Given the description of an element on the screen output the (x, y) to click on. 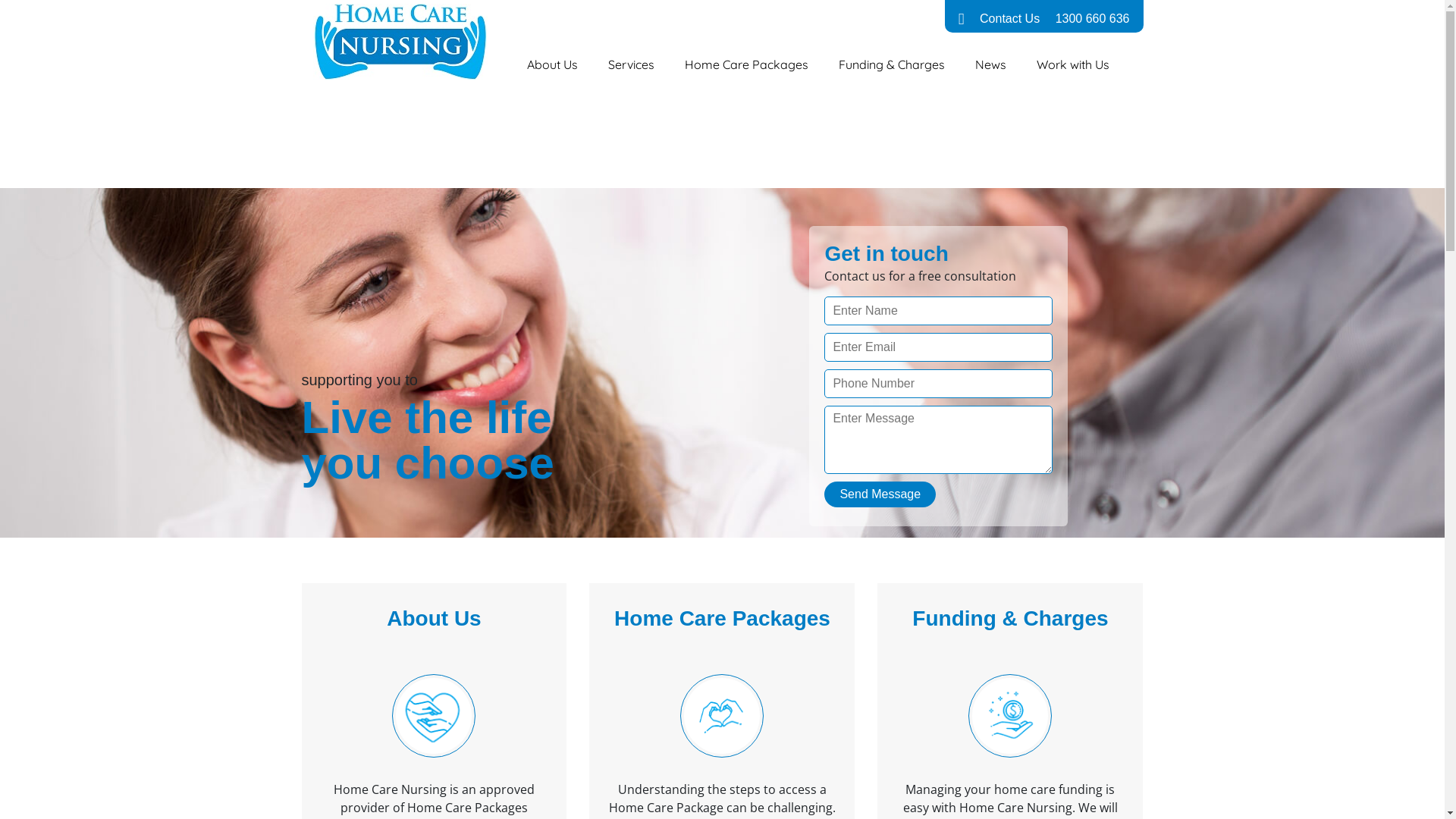
Services Element type: text (631, 64)
Funding & Charges Element type: text (891, 64)
1300 660 636 Element type: text (1092, 18)
Send Message Element type: text (879, 494)
Work with Us Element type: text (1072, 64)
Home Care Packages Element type: text (746, 64)
News Element type: text (990, 64)
About Us Element type: text (552, 64)
Contact Us Element type: text (1009, 18)
